Given the description of an element on the screen output the (x, y) to click on. 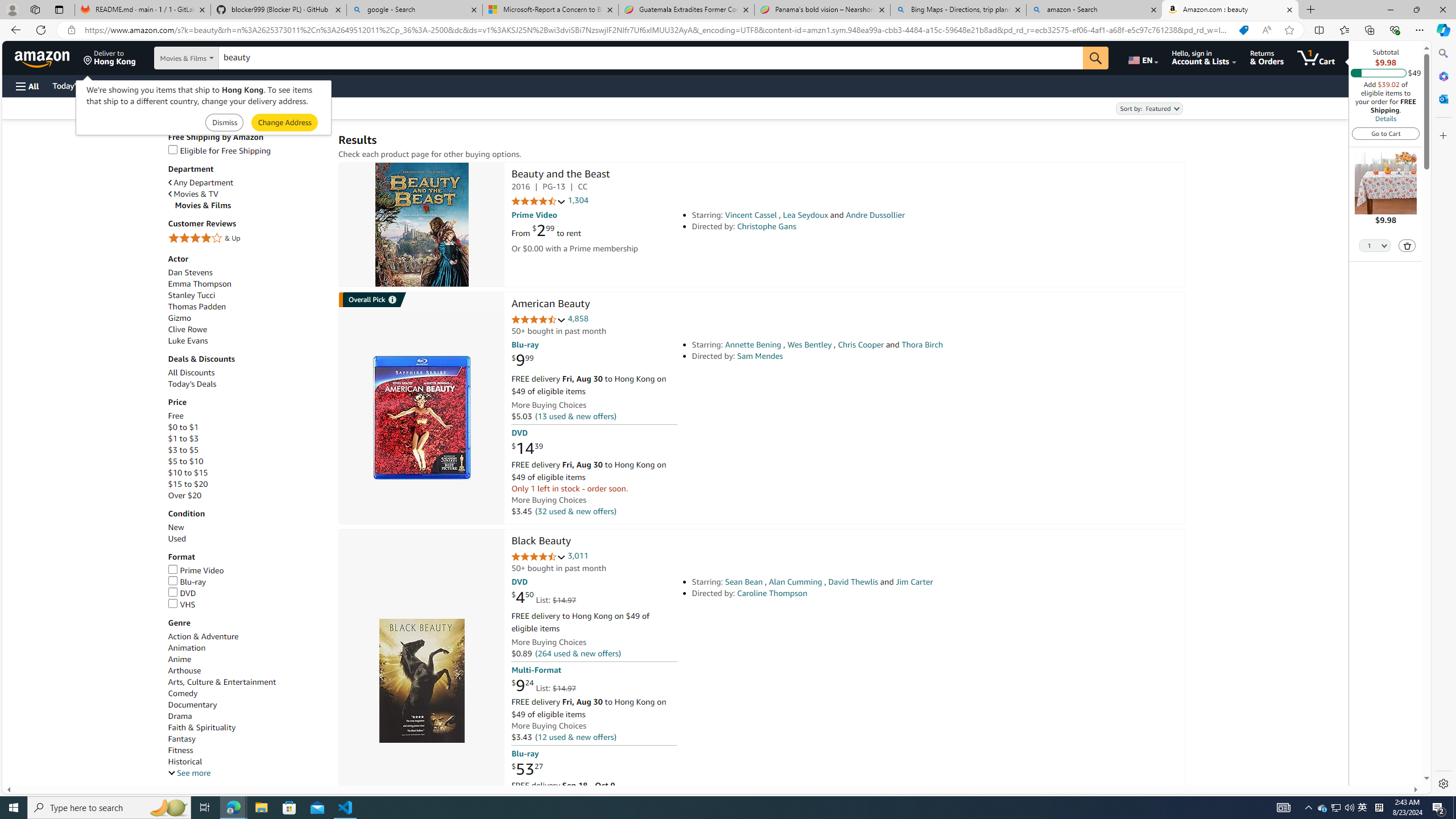
Animation (186, 647)
Anime (179, 659)
All Discounts (247, 372)
Search Amazon (650, 57)
Any Department (200, 182)
Alan Cumming (795, 581)
Luke Evans (247, 340)
Fitness (247, 750)
Go to Cart (1385, 133)
Clive Rowe (187, 329)
(13 used & new offers) (574, 416)
Thomas Padden (196, 306)
New (247, 527)
3,011 (577, 556)
